Given the description of an element on the screen output the (x, y) to click on. 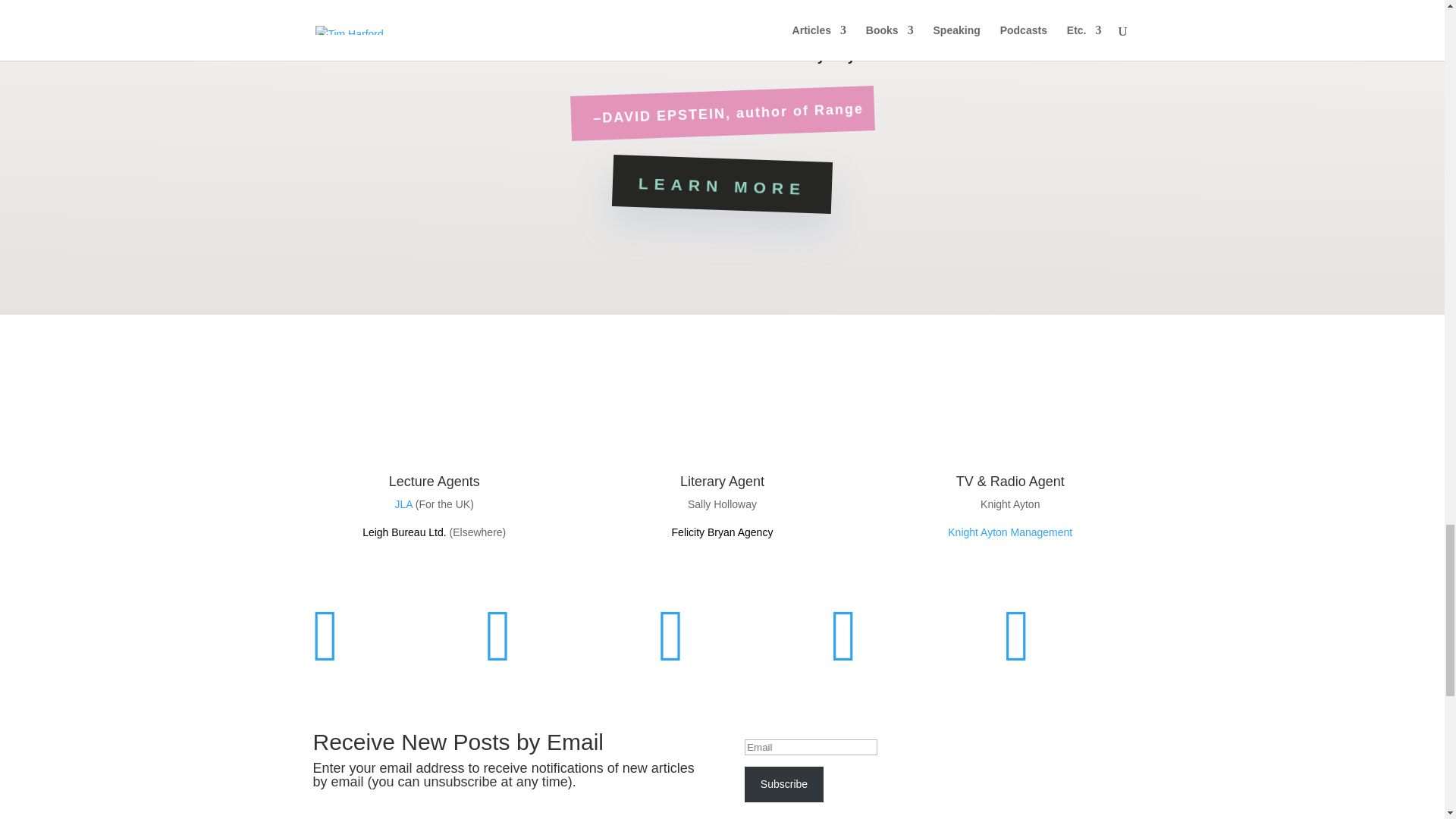
LEARN MORE (721, 180)
